Given the description of an element on the screen output the (x, y) to click on. 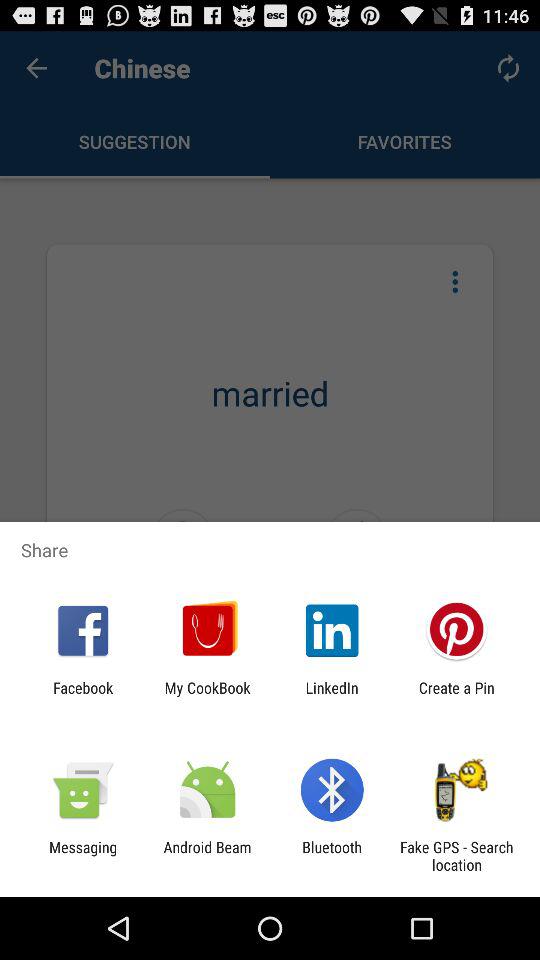
turn on bluetooth item (331, 856)
